Given the description of an element on the screen output the (x, y) to click on. 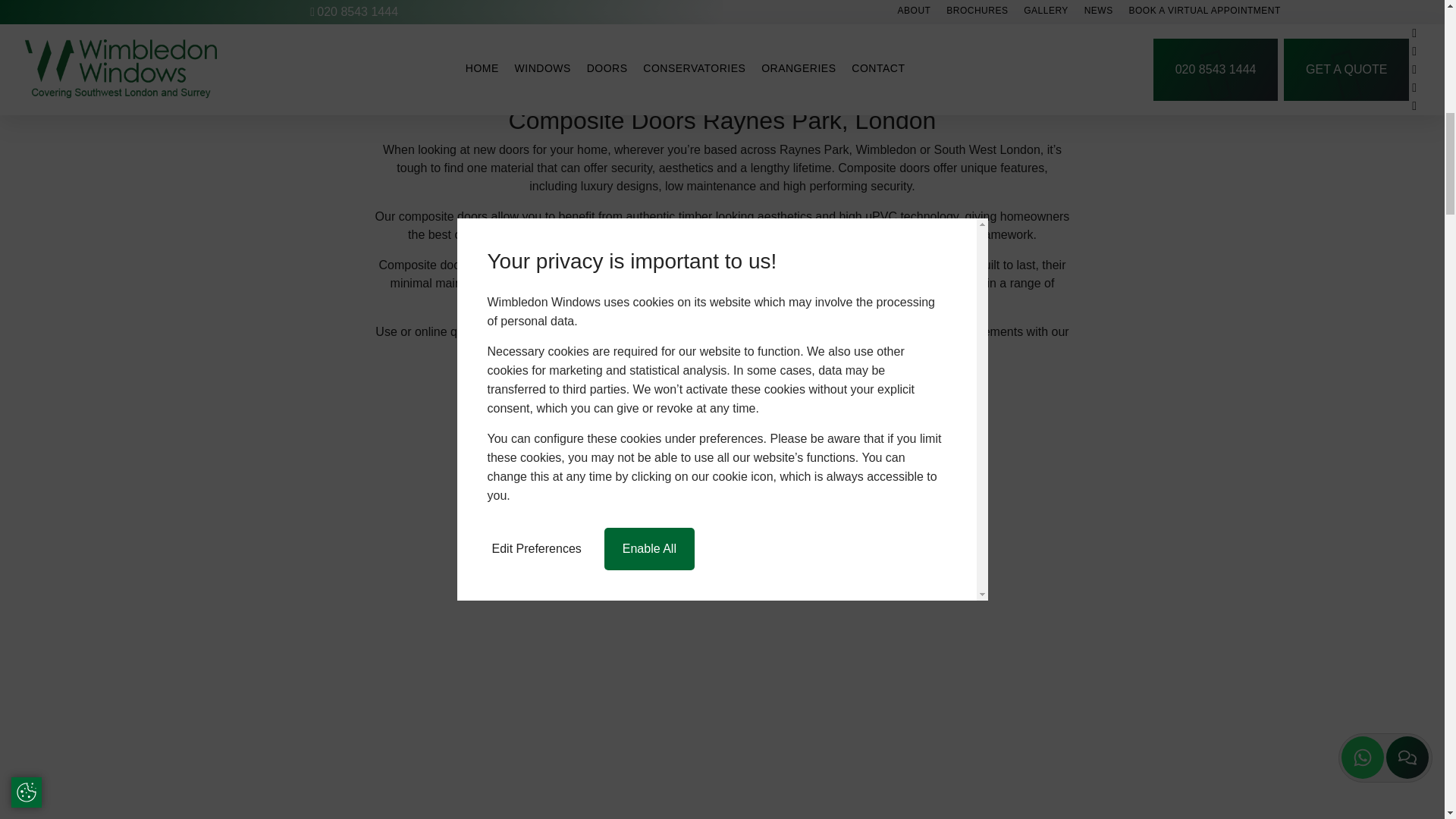
LEARN MORE (358, 0)
